Given the description of an element on the screen output the (x, y) to click on. 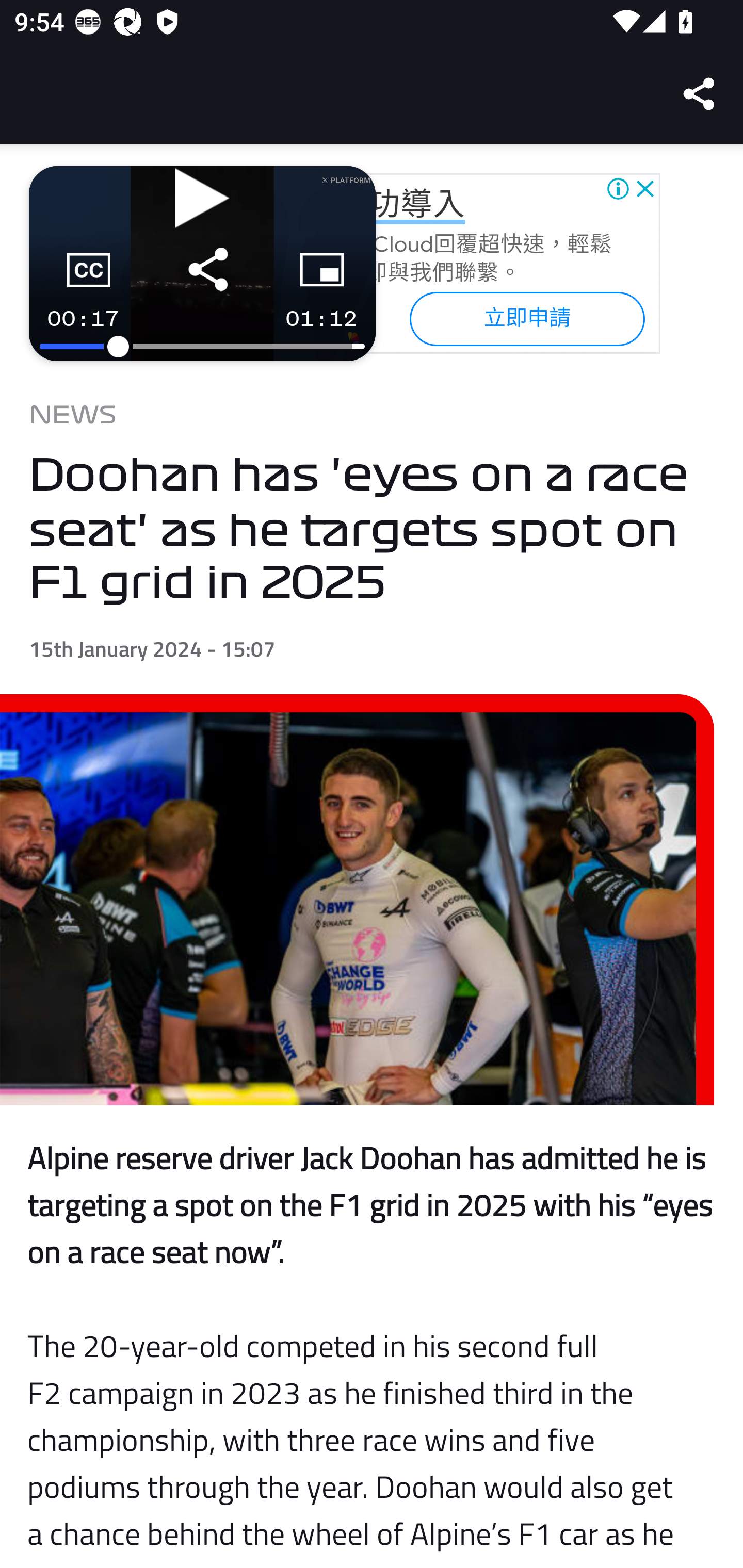
Share (699, 93)
立即申請 (526, 318)
